Given the description of an element on the screen output the (x, y) to click on. 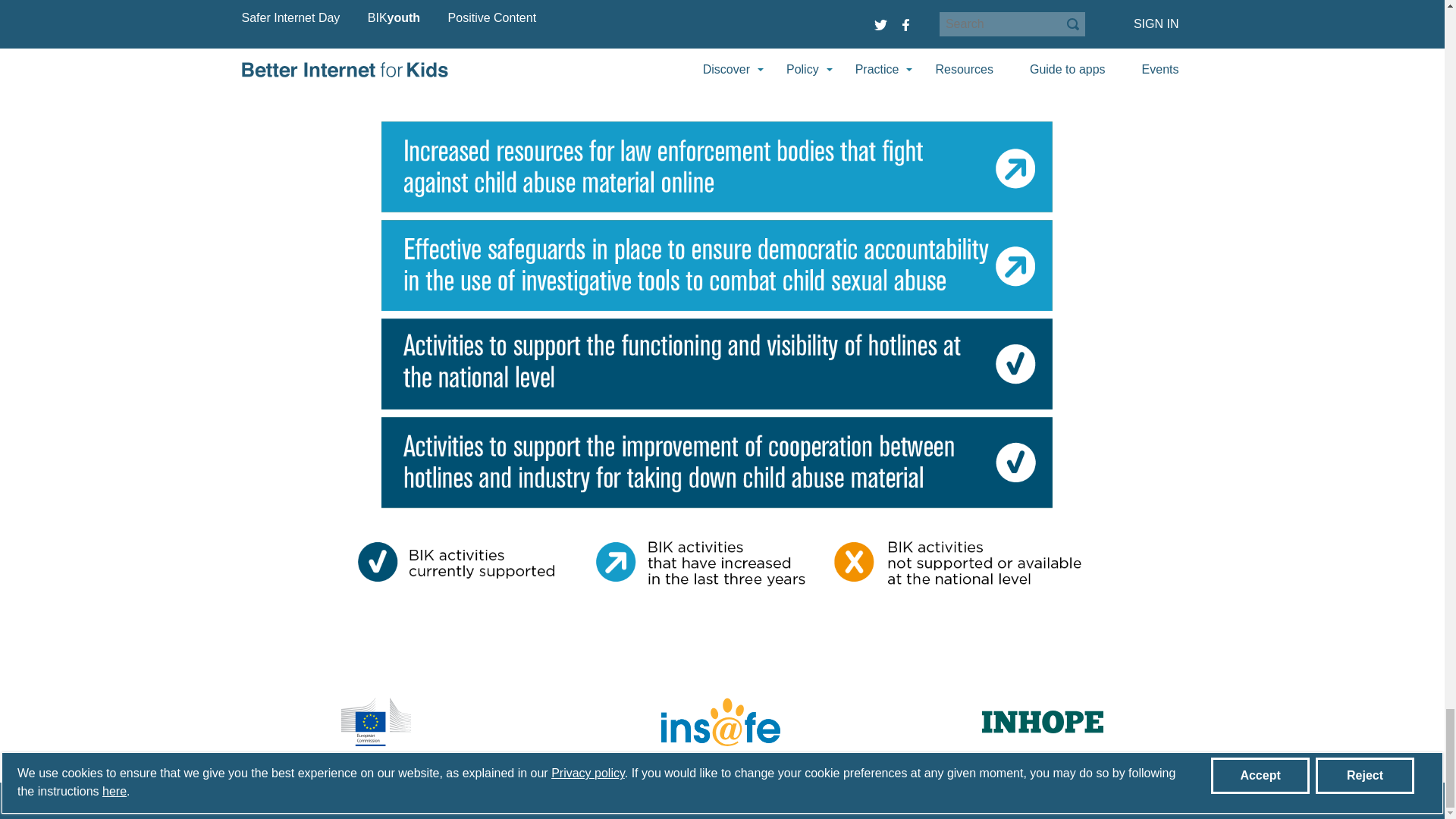
accessibility (667, 800)
Contacte (352, 800)
